Given the description of an element on the screen output the (x, y) to click on. 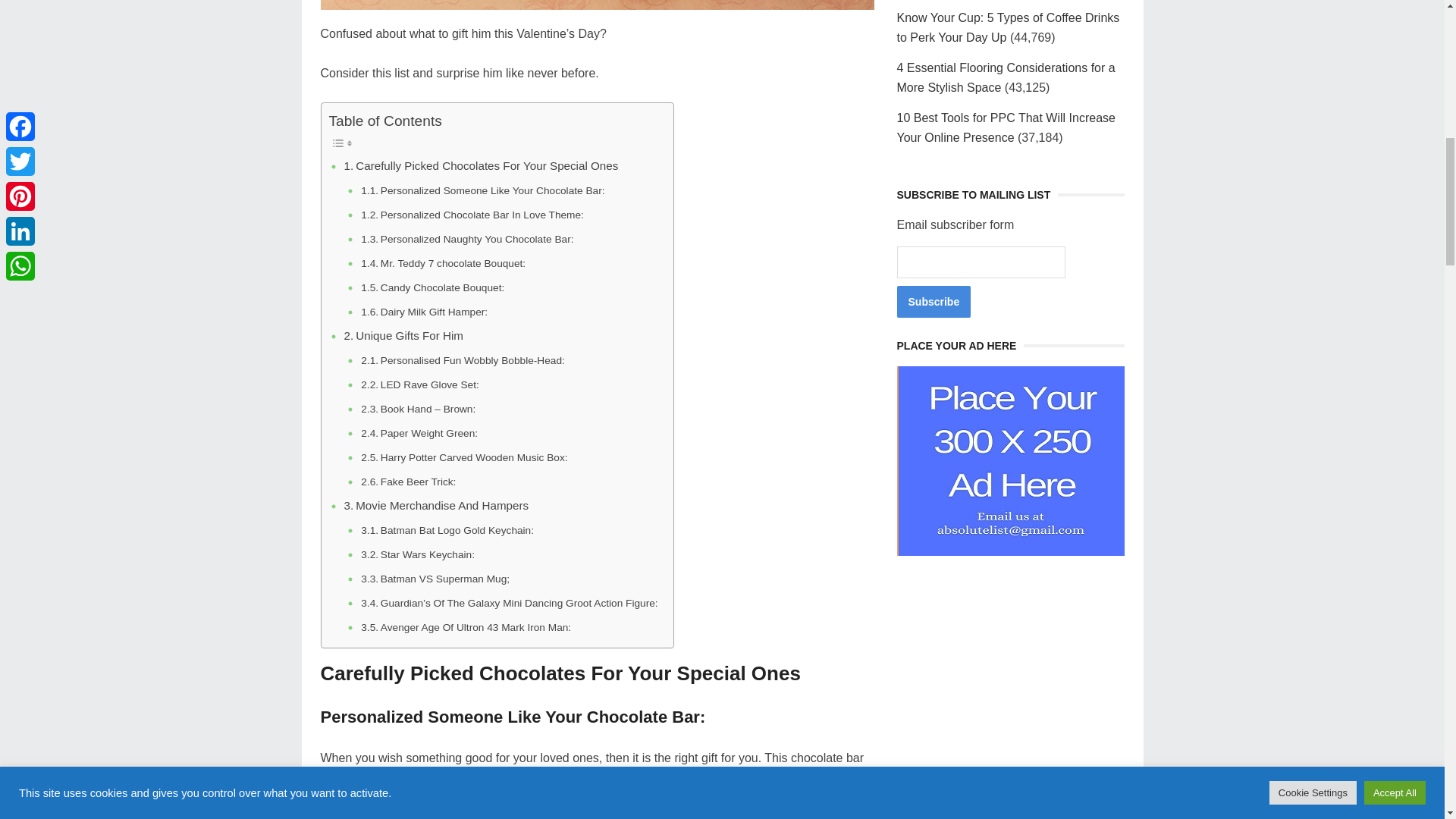
Personalized Someone Like Your Chocolate Bar: (482, 190)
Personalised Fun Wobbly Bobble-Head: (462, 360)
Fake Beer Trick: (408, 482)
Paper Weight Green: (419, 433)
Personalized Chocolate Bar In Love Theme: (472, 215)
Carefully Picked Chocolates For Your Special Ones (480, 166)
Personalized Naughty You Chocolate Bar: (467, 239)
Subscribe (933, 301)
Dairy Milk Gift Hamper: (424, 312)
Mr. Teddy 7 chocolate Bouquet: (443, 263)
Unique Gifts For Him (403, 335)
Candy Chocolate Bouquet: (432, 288)
Harry Potter Carved Wooden Music Box: (464, 457)
LED Rave Glove Set: (420, 384)
